Given the description of an element on the screen output the (x, y) to click on. 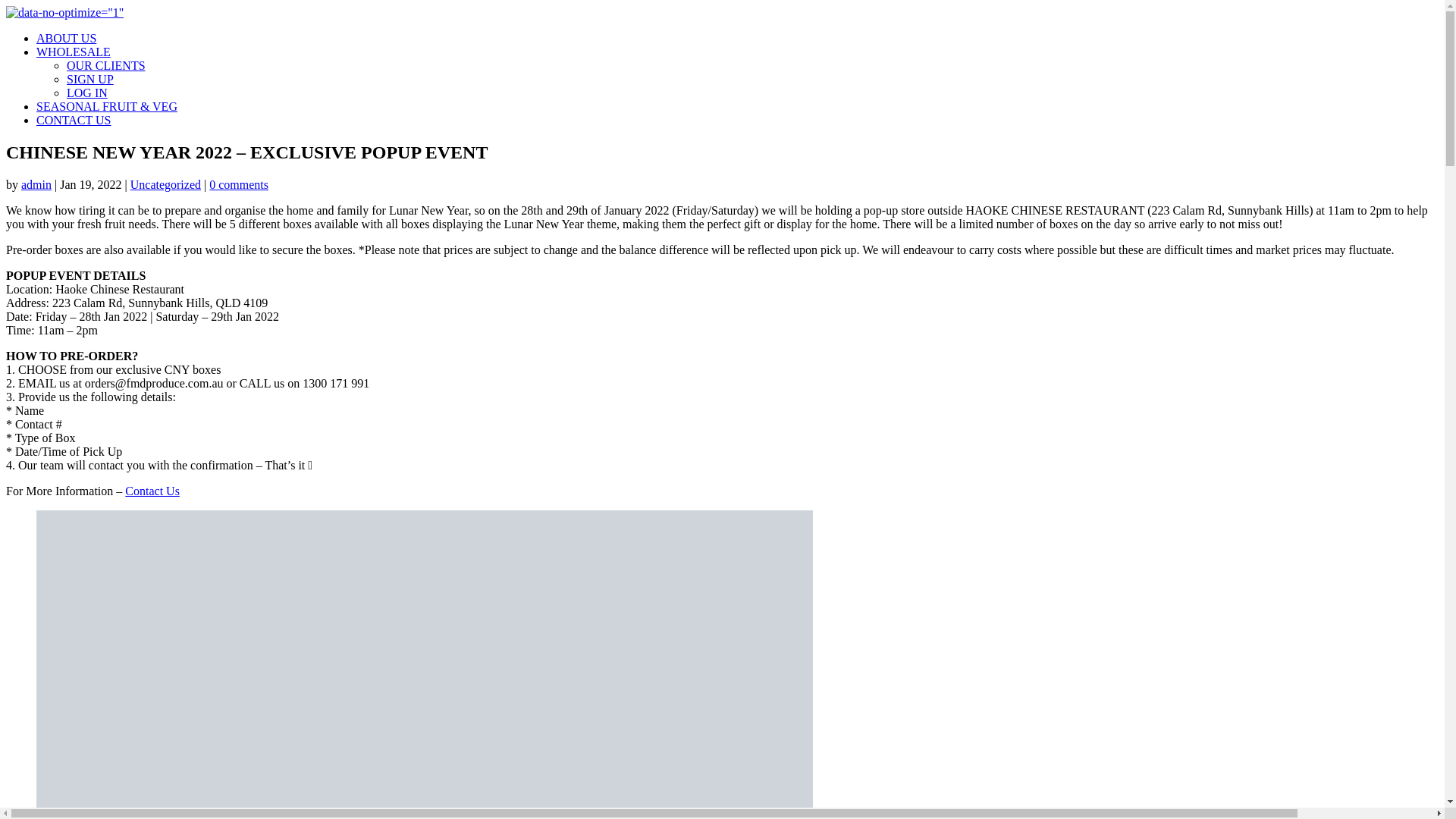
admin (35, 184)
CONTACT US (73, 119)
Uncategorized (165, 184)
ABOUT US (66, 38)
SIGN UP (89, 78)
Posts by admin (35, 184)
CONTACT US (73, 119)
Our Clients (105, 65)
Contact Us (152, 490)
LOG IN (86, 92)
